Given the description of an element on the screen output the (x, y) to click on. 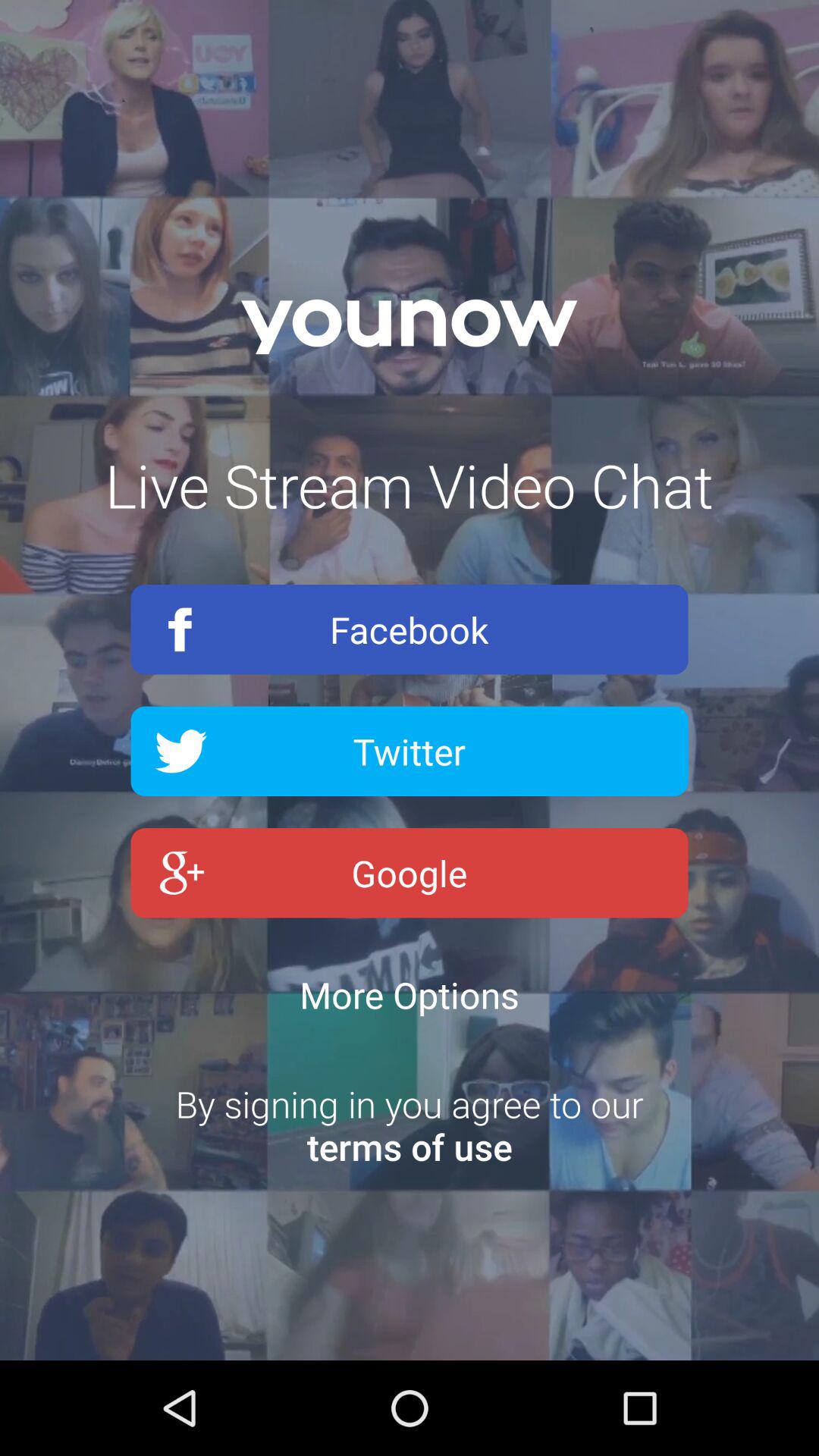
facebook page (409, 629)
